Given the description of an element on the screen output the (x, y) to click on. 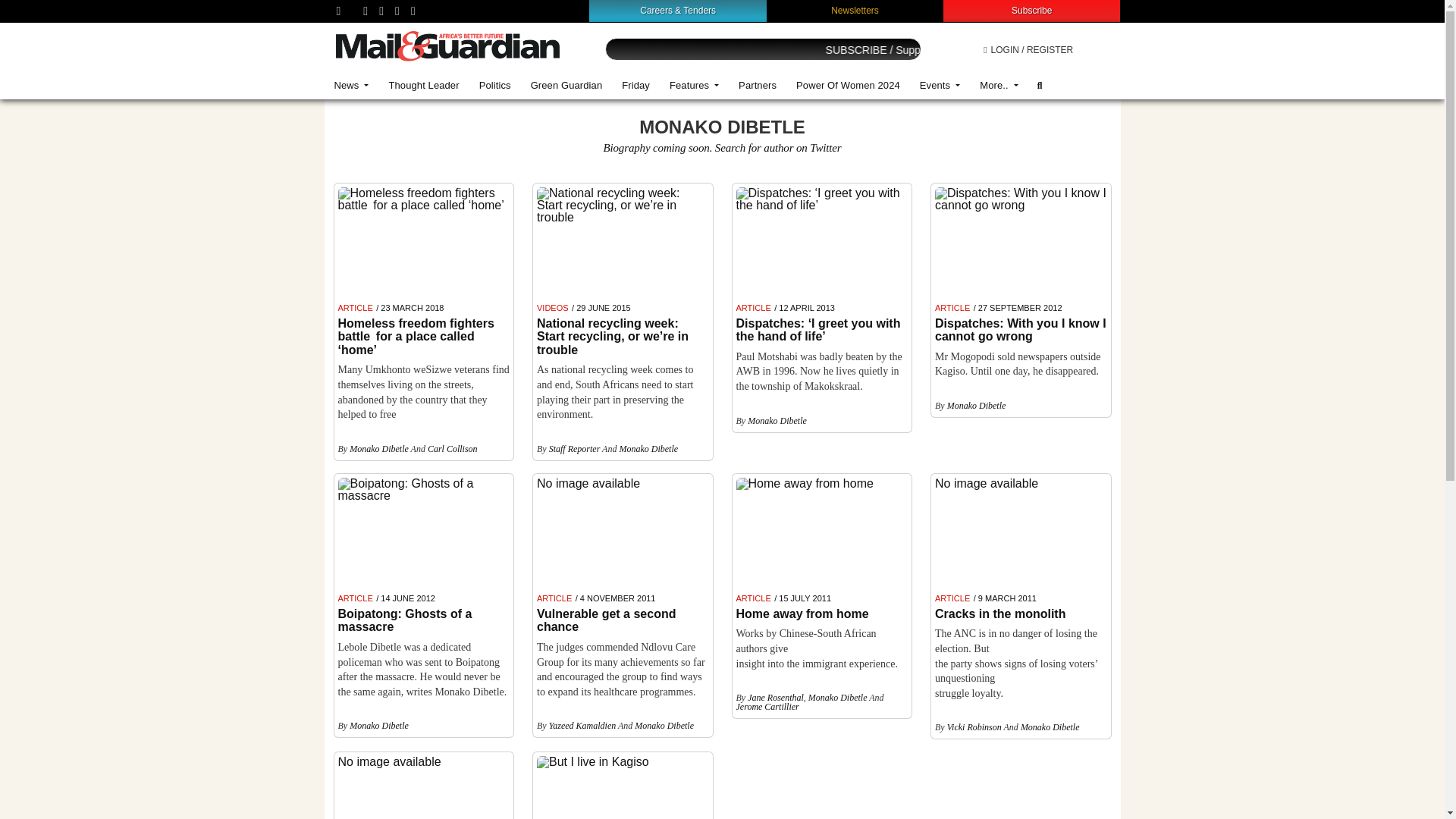
Green Guardian (566, 85)
News (351, 85)
Thought Leader (423, 85)
News (351, 85)
Newsletters (855, 9)
Subscribe (1031, 9)
Politics (494, 85)
Friday (635, 85)
